Given the description of an element on the screen output the (x, y) to click on. 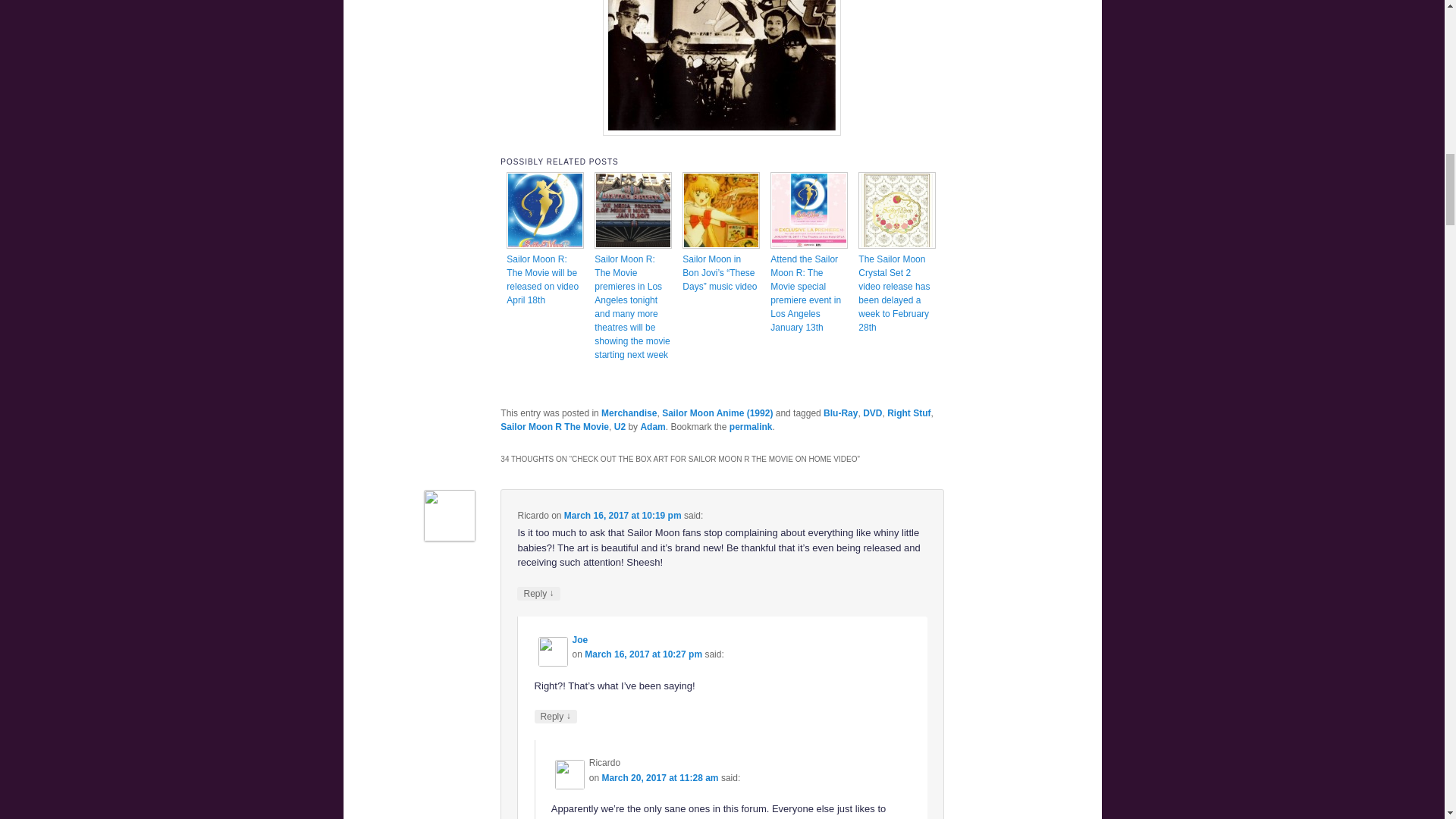
Adam (652, 426)
Merchandise (628, 412)
Right Stuf (908, 412)
Sailor Moon R The Movie (554, 426)
permalink (751, 426)
U2 (620, 426)
March 16, 2017 at 10:19 pm (622, 515)
DVD (872, 412)
Blu-Ray (840, 412)
